Given the description of an element on the screen output the (x, y) to click on. 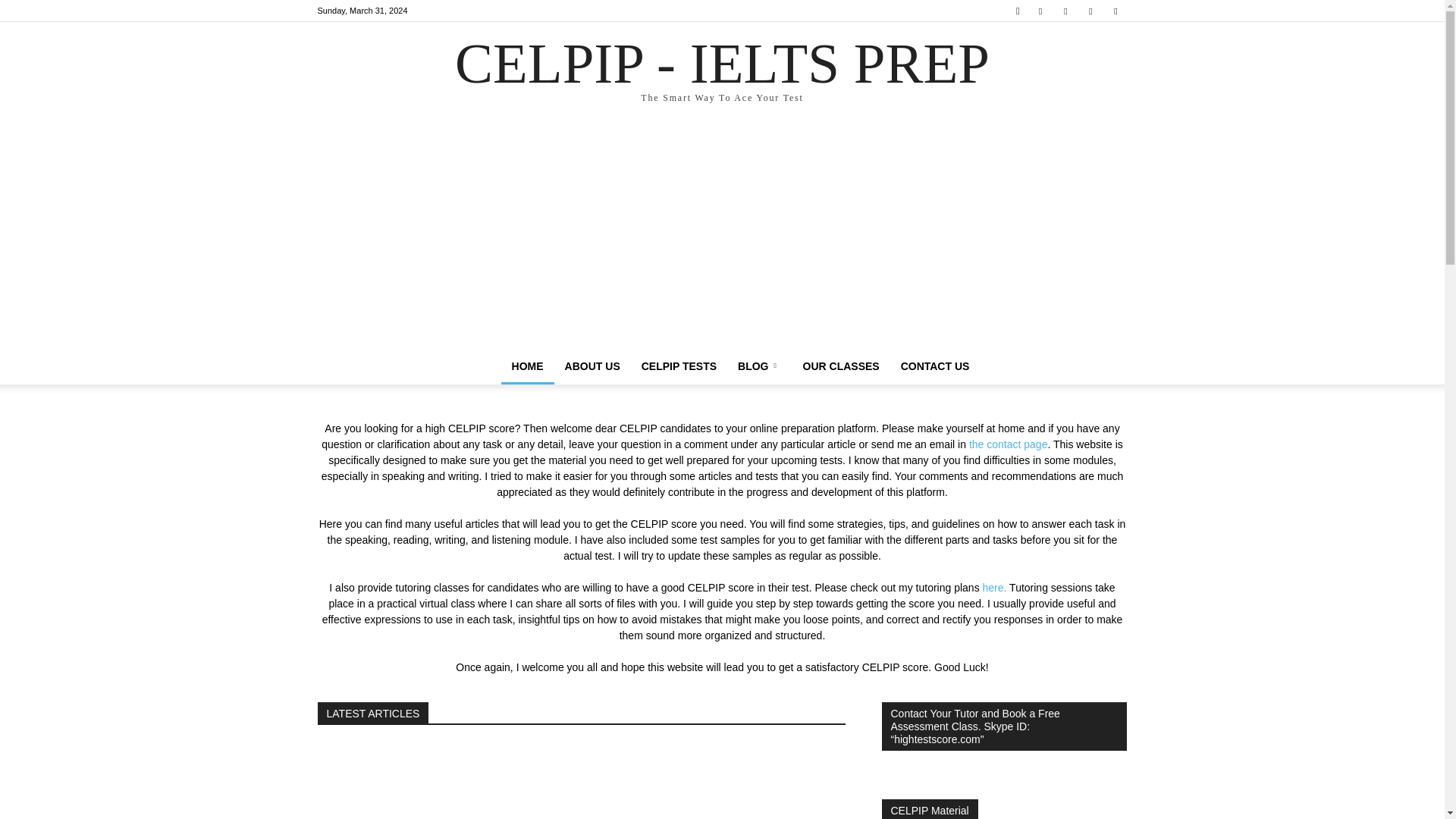
Search (1085, 64)
the contact page (1008, 444)
BLOG (759, 366)
Twitter (1090, 10)
ABOUT US (592, 366)
CELPIP Writing Test 5 (721, 781)
CELPIP TESTS (722, 72)
HOME (678, 366)
Skype (527, 366)
